Given the description of an element on the screen output the (x, y) to click on. 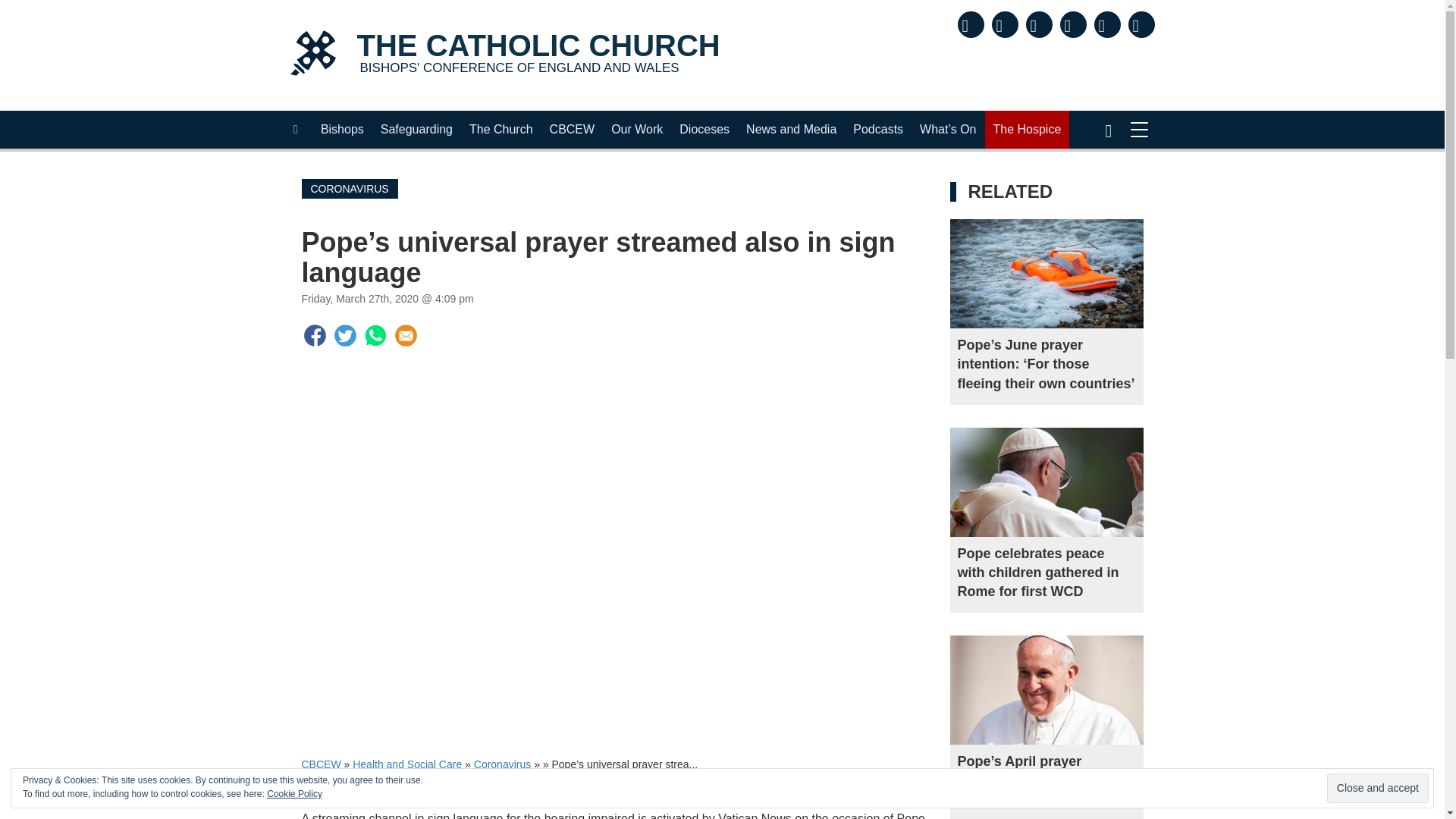
The Church (504, 55)
Close and accept (501, 129)
Bishops (1377, 788)
Safeguarding (342, 129)
CBCEW (416, 129)
